Given the description of an element on the screen output the (x, y) to click on. 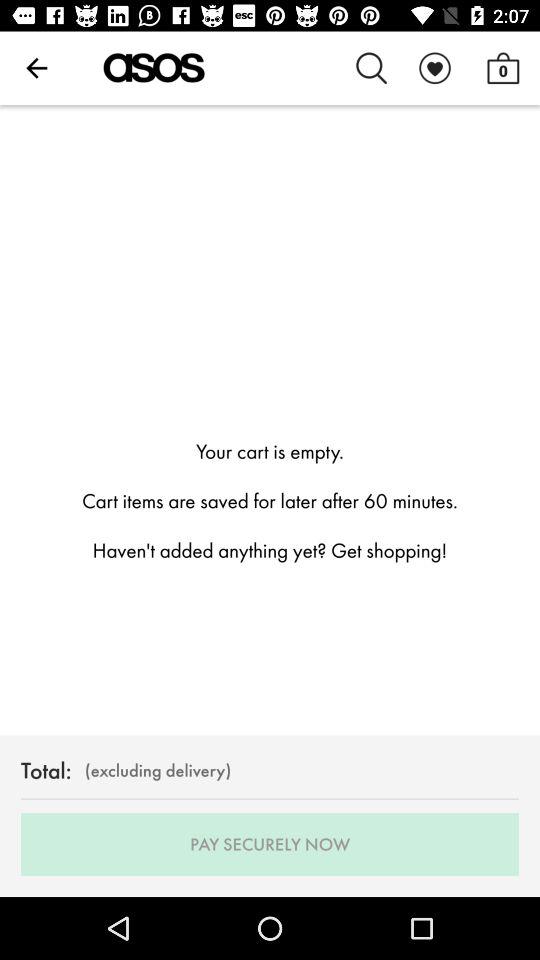
swipe to pay securely now icon (270, 844)
